Given the description of an element on the screen output the (x, y) to click on. 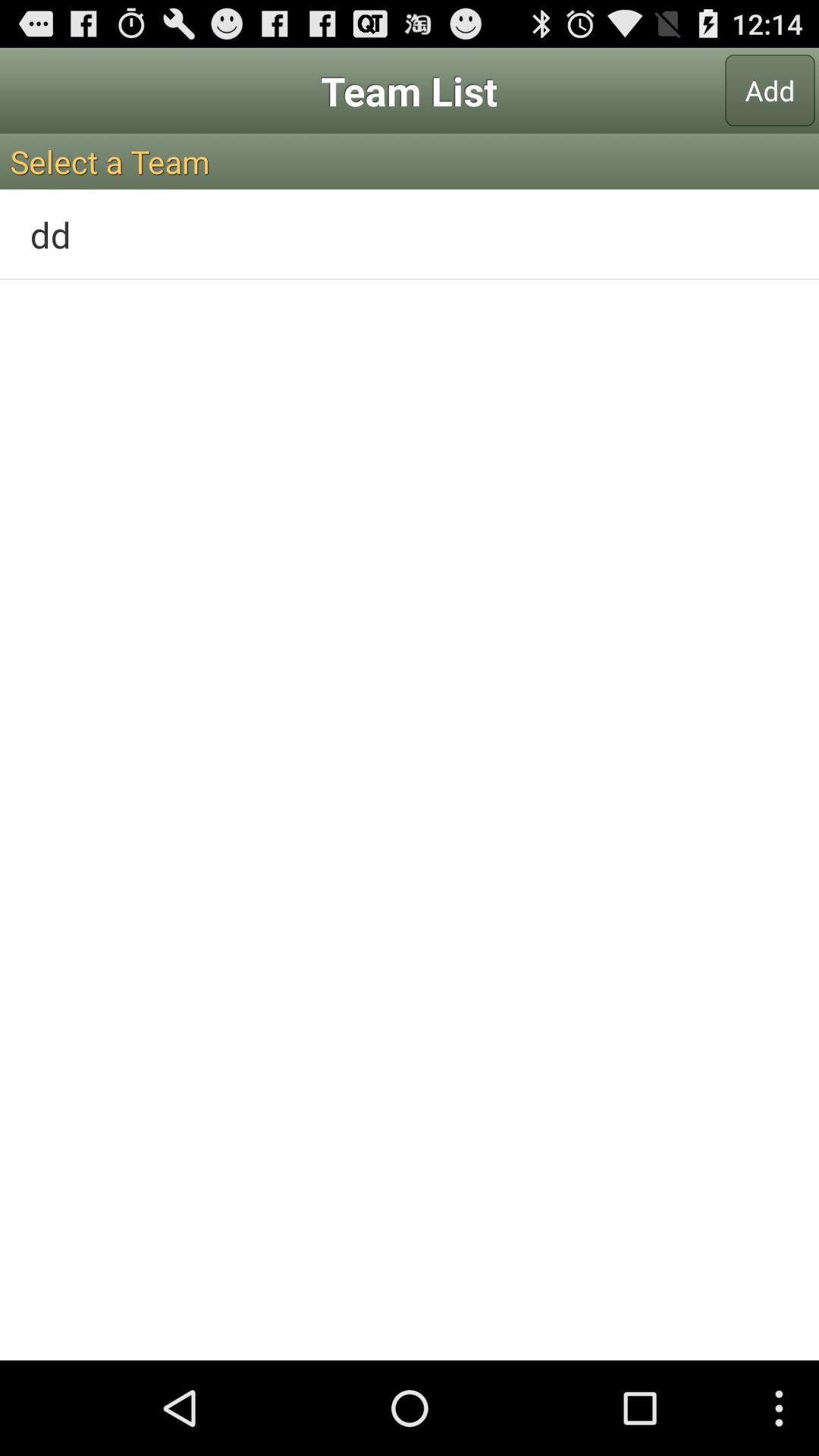
open the icon below add button (409, 161)
